Given the description of an element on the screen output the (x, y) to click on. 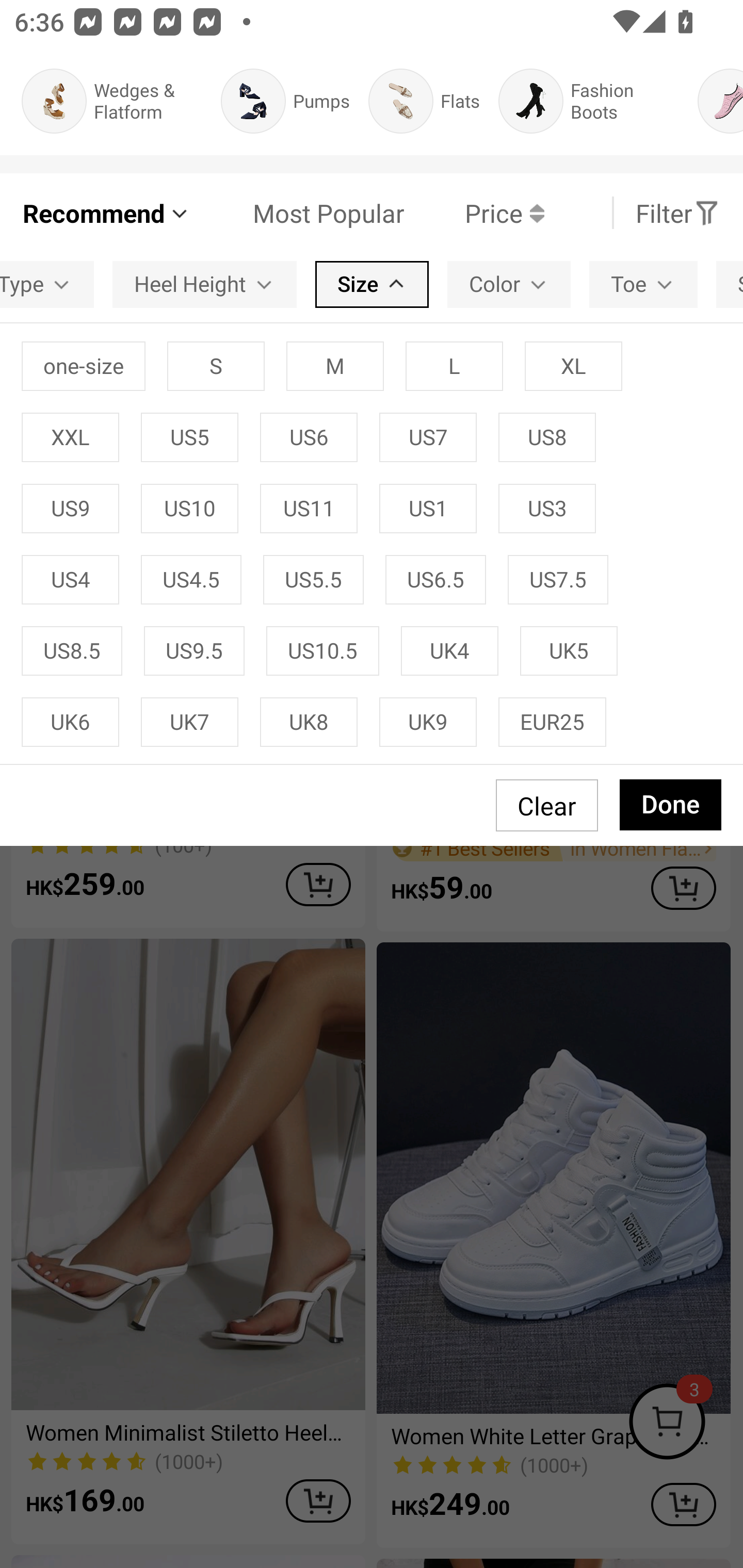
Wedges & Flatform (111, 100)
Pumps (284, 100)
Flats (423, 100)
Fashion Boots (588, 100)
Recommend (106, 213)
Most Popular (297, 213)
Price (474, 213)
Filter (677, 213)
Type (46, 283)
Heel Height (204, 283)
Size (371, 283)
Color (508, 283)
Toe (643, 283)
